Given the description of an element on the screen output the (x, y) to click on. 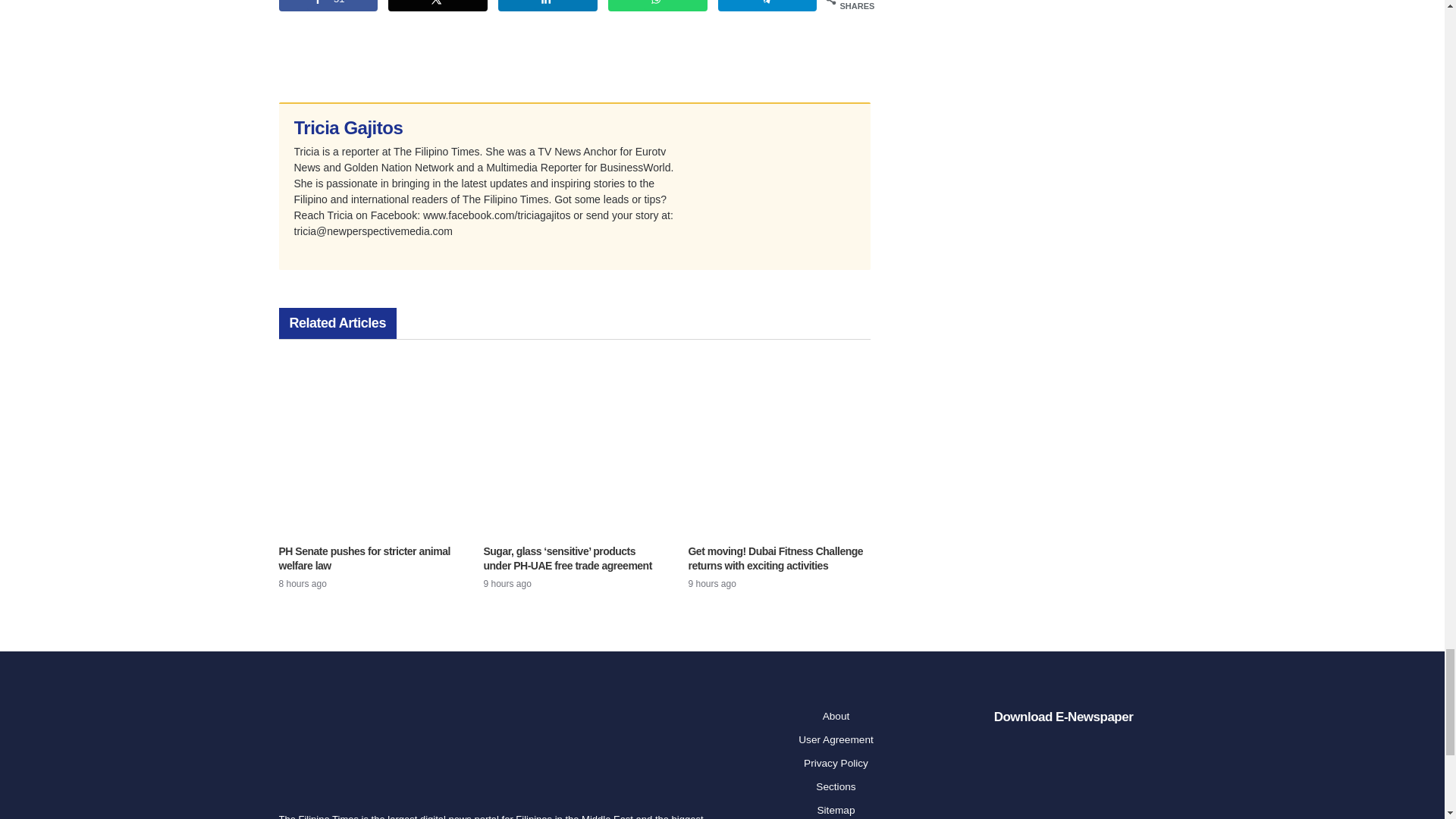
Share on Telegram (766, 5)
Share on X (437, 5)
Share on WhatsApp (657, 5)
Share on LinkedIn (546, 5)
Share on Facebook (328, 5)
